Given the description of an element on the screen output the (x, y) to click on. 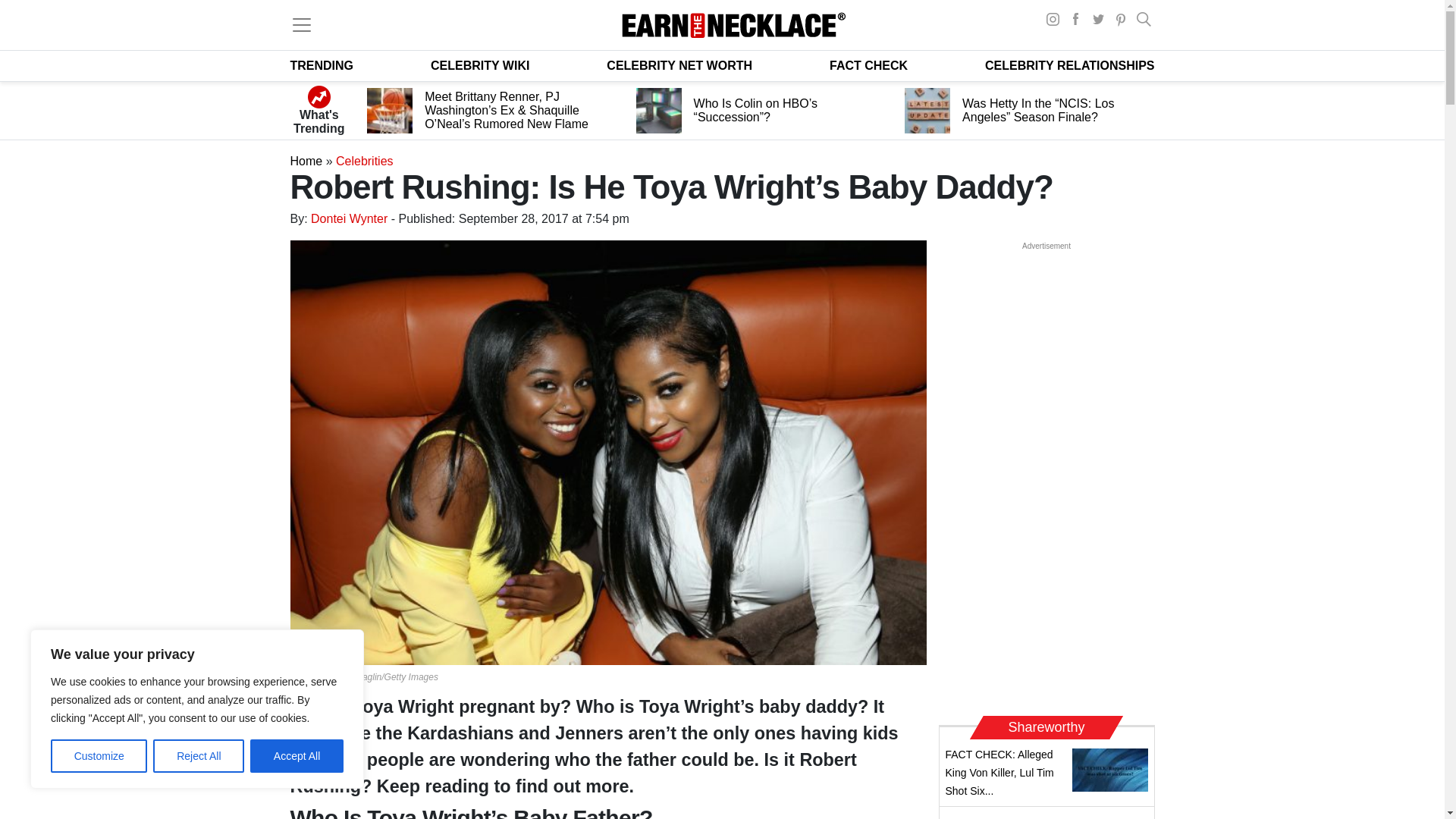
CELEBRITY WIKI (479, 65)
Customize (98, 756)
CELEBRITY RELATIONSHIPS (1069, 65)
FACT CHECK (868, 65)
CELEBRITY NET WORTH (679, 65)
Posts by Dontei Wynter (349, 218)
TRENDING (321, 65)
Reject All (198, 756)
Accept All (296, 756)
